Given the description of an element on the screen output the (x, y) to click on. 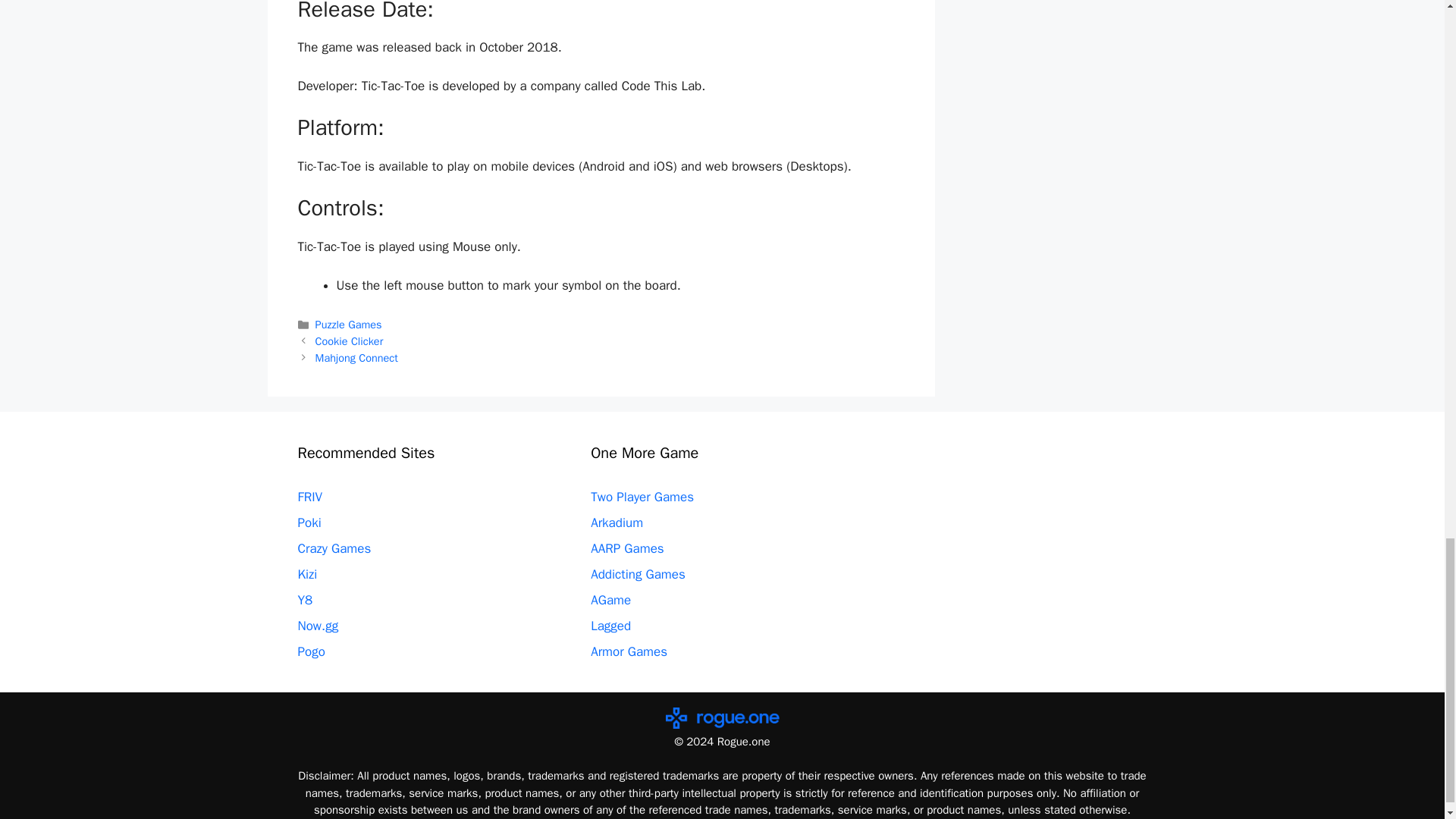
AARP Games (627, 548)
Addicting Games (638, 574)
Previous (349, 341)
FRIV (309, 496)
AGame (610, 600)
Puzzle Games (348, 324)
Now.gg (317, 625)
Arkadium (617, 522)
Mahjong Connect (356, 357)
Y8 (305, 600)
Pogo (310, 651)
Cookie Clicker (349, 341)
Two Player Games (642, 496)
Crazy Games (334, 548)
Kizi (307, 574)
